Given the description of an element on the screen output the (x, y) to click on. 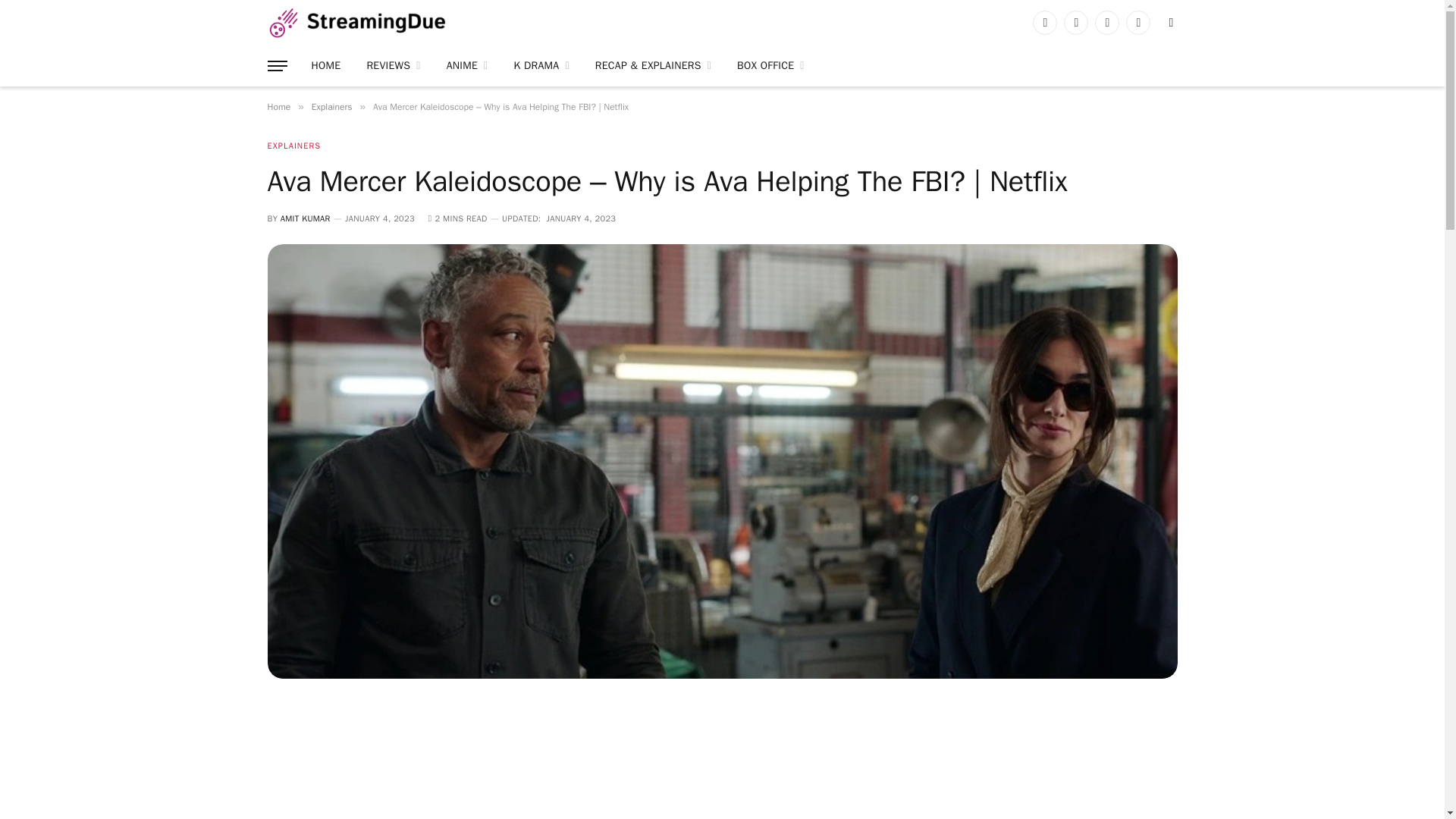
HOME (325, 65)
StreamingDue.Com (355, 22)
YouTube (1137, 22)
REVIEWS (392, 65)
Instagram (1106, 22)
Switch to Dark Design - easier on eyes. (1168, 22)
ANIME (466, 65)
Facebook (1044, 22)
